Given the description of an element on the screen output the (x, y) to click on. 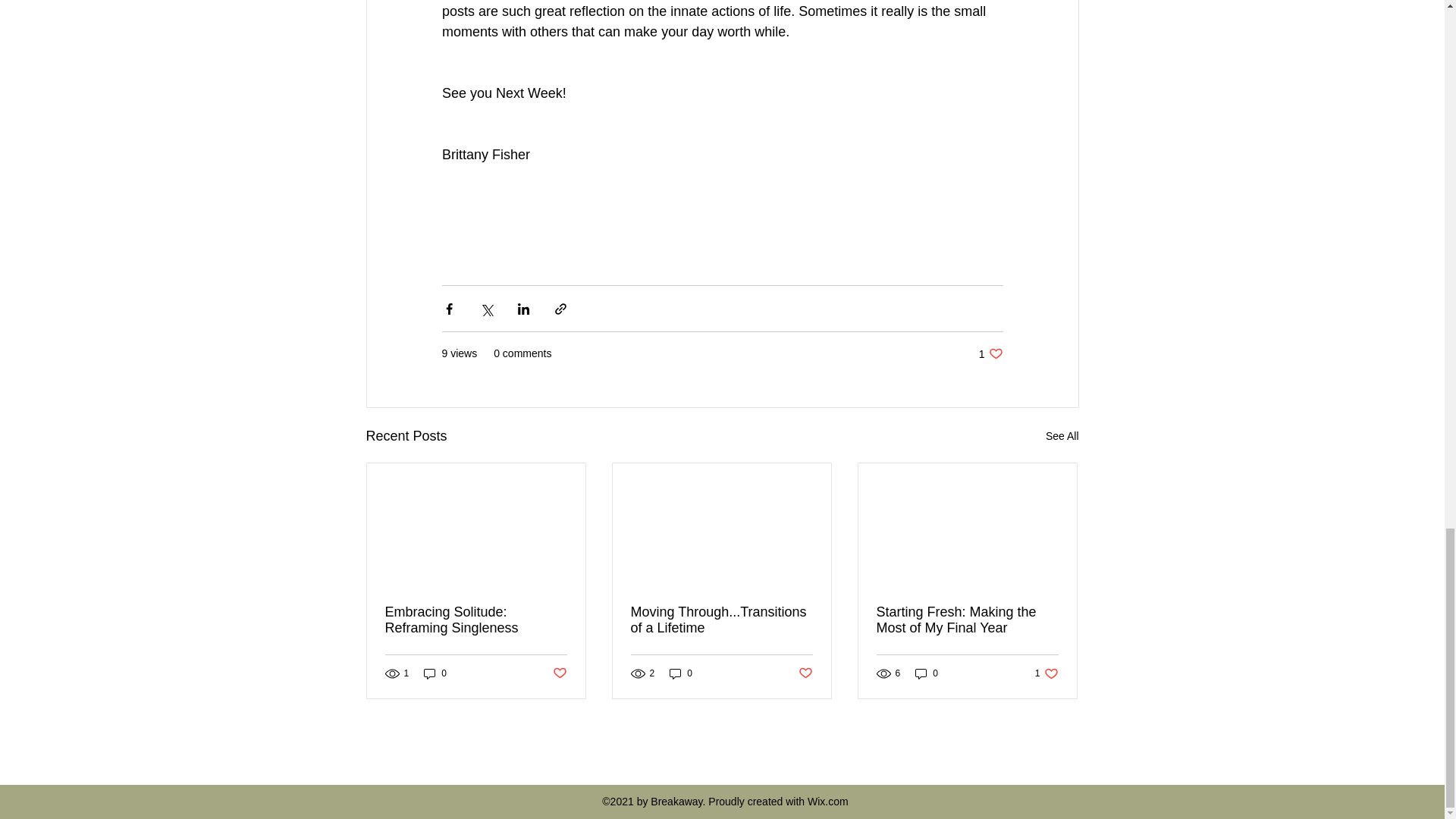
Moving Through...Transitions of a Lifetime (721, 620)
Embracing Solitude: Reframing Singleness (990, 353)
See All (1046, 673)
0 (476, 620)
Post not marked as liked (1061, 436)
Post not marked as liked (926, 673)
0 (558, 673)
0 (804, 673)
Starting Fresh: Making the Most of My Final Year (681, 673)
